Given the description of an element on the screen output the (x, y) to click on. 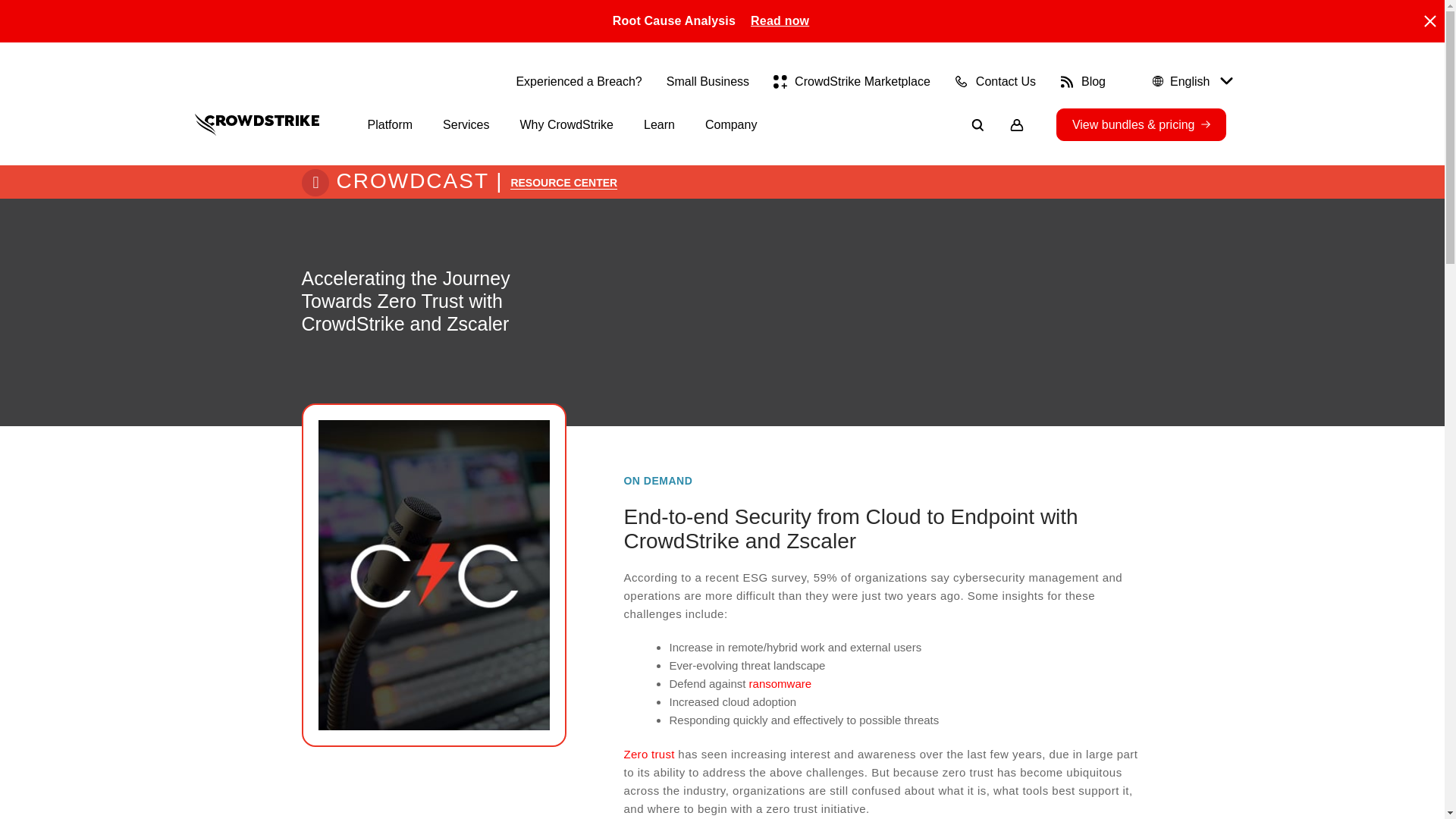
English (1189, 81)
Platform (390, 124)
CrowdStrike Logo (255, 124)
Blog (1082, 81)
CrowdStrike Marketplace (851, 81)
Small Business (707, 81)
Read now (780, 20)
Experienced a Breach? (578, 81)
Contact Us (995, 81)
